Given the description of an element on the screen output the (x, y) to click on. 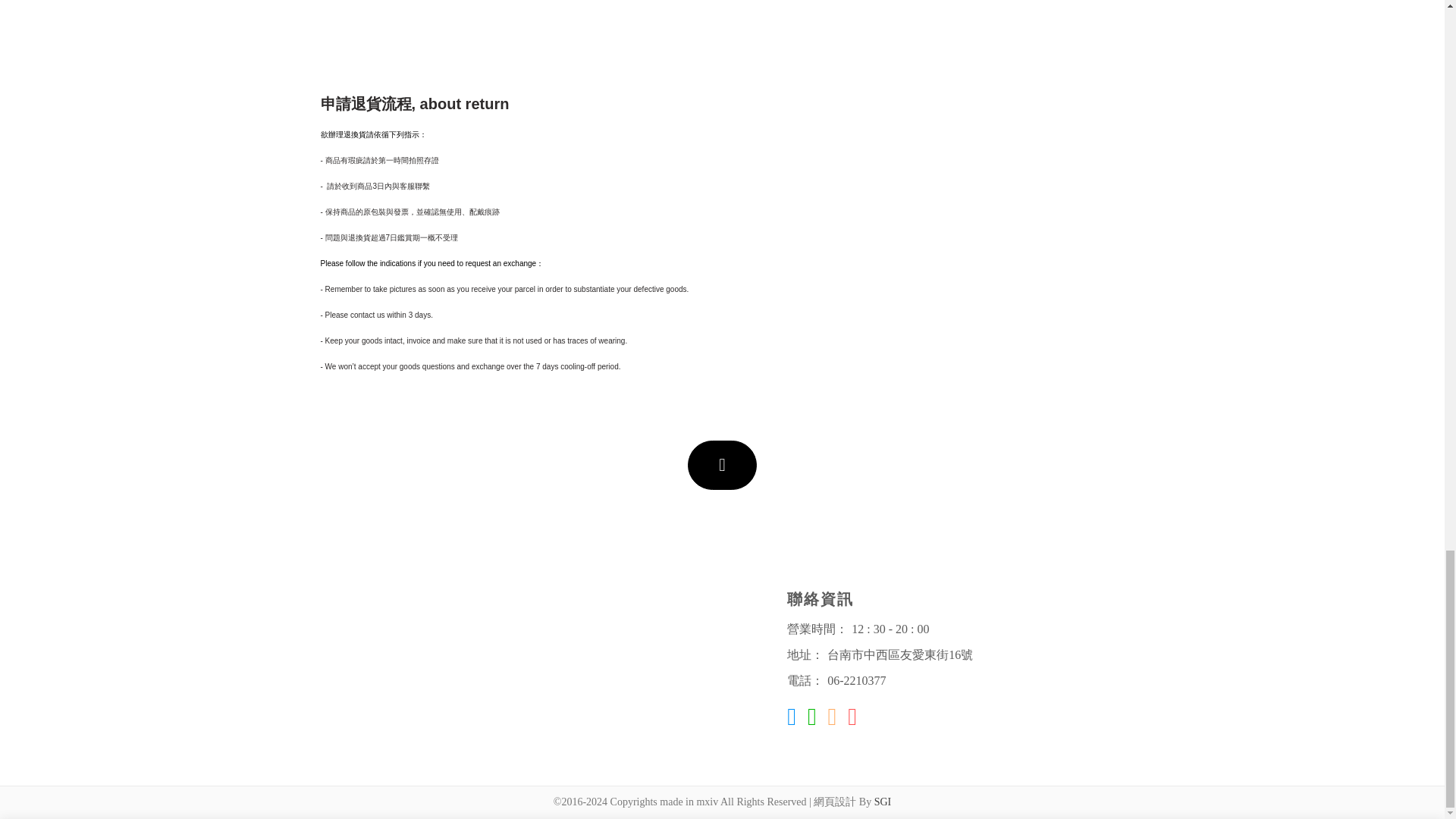
06-2210377 (856, 680)
